Given the description of an element on the screen output the (x, y) to click on. 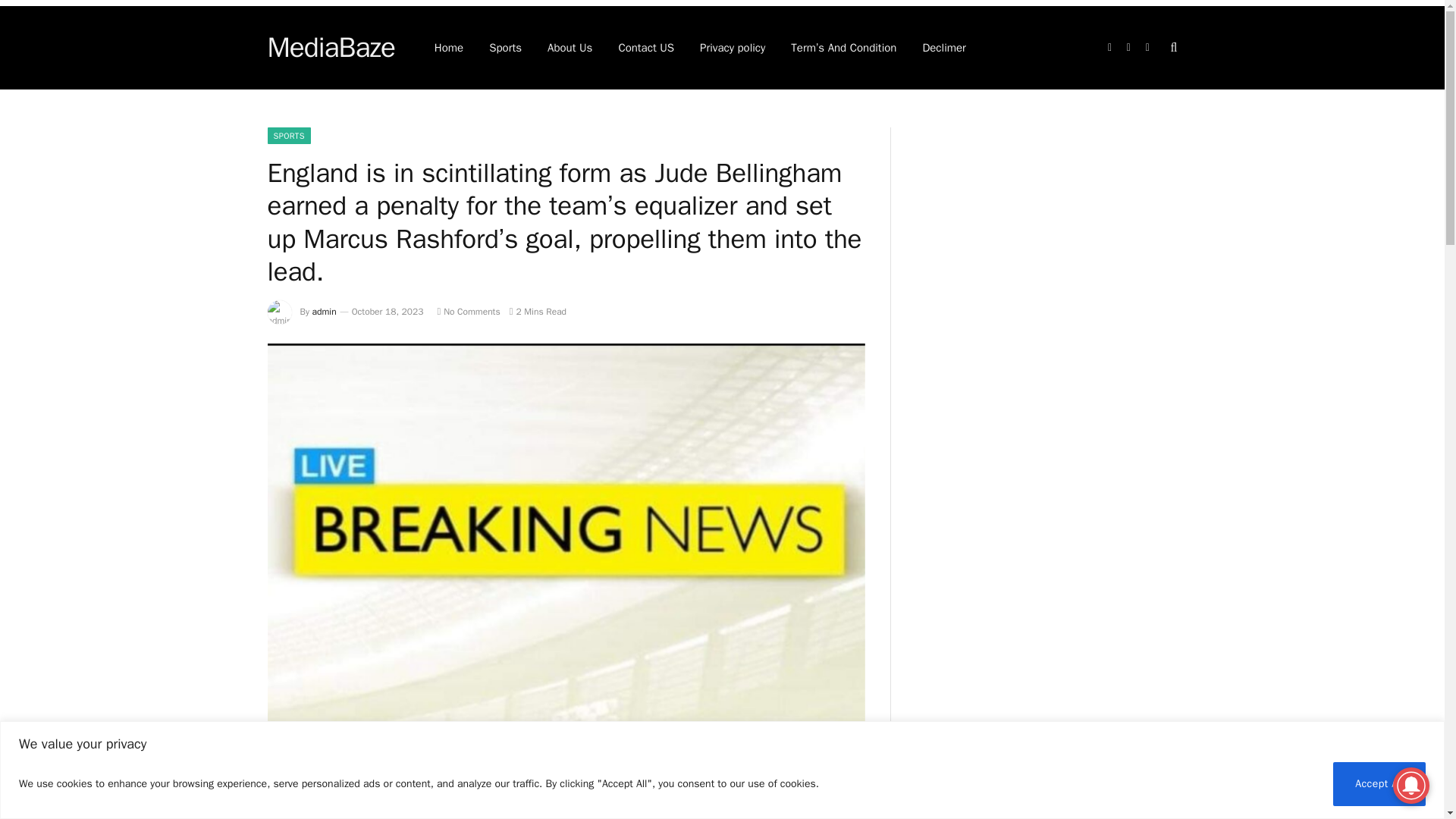
Contact US (646, 47)
Accept All (1379, 783)
admin (324, 311)
SPORTS (288, 135)
MediaBaze (330, 47)
Posts by admin (324, 311)
Privacy policy (732, 47)
MediaBaze (330, 47)
No Comments (467, 311)
